Given the description of an element on the screen output the (x, y) to click on. 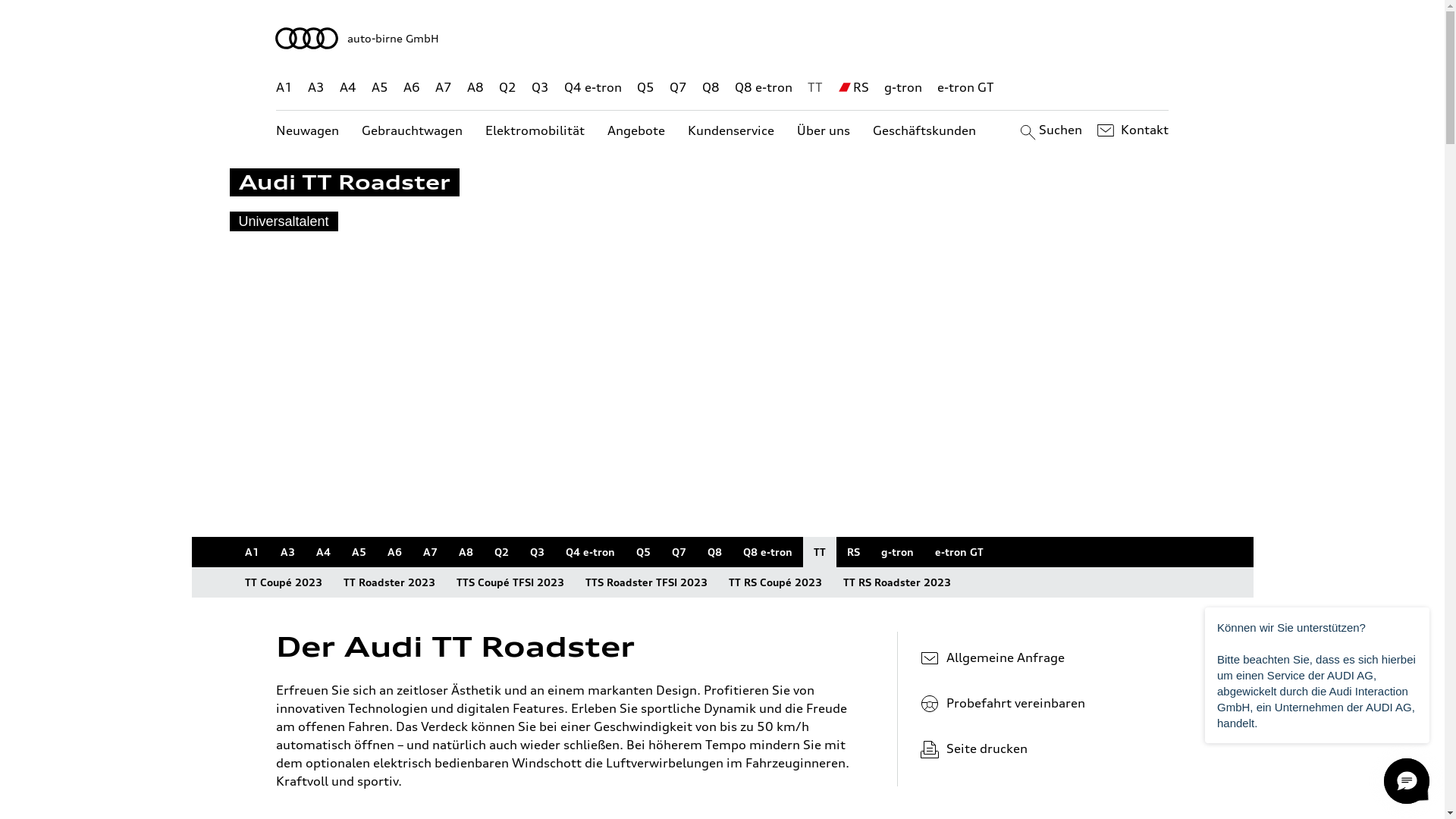
A1 Element type: text (284, 87)
A1 Element type: text (251, 551)
e-tron GT Element type: text (965, 87)
auto-birne GmbH Element type: text (722, 38)
A4 Element type: text (322, 551)
TT Element type: text (814, 87)
Kundenservice Element type: text (730, 130)
g-tron Element type: text (903, 87)
Q5 Element type: text (645, 87)
e-tron GT Element type: text (958, 551)
Gebrauchtwagen Element type: text (411, 130)
Q3 Element type: text (536, 551)
A5 Element type: text (379, 87)
Q2 Element type: text (507, 87)
Probefahrt vereinbaren Element type: text (1038, 702)
A7 Element type: text (430, 551)
A7 Element type: text (443, 87)
Q8 Element type: text (713, 551)
Q3 Element type: text (540, 87)
Q5 Element type: text (642, 551)
Neuwagen Element type: text (307, 130)
TT Roadster 2023 Element type: text (388, 582)
A3 Element type: text (315, 87)
Q7 Element type: text (678, 87)
RS Element type: text (852, 551)
Q7 Element type: text (678, 551)
Q8 e-tron Element type: text (763, 87)
Seite drucken Element type: text (1044, 748)
A4 Element type: text (347, 87)
Q4 e-tron Element type: text (592, 87)
Q8 e-tron Element type: text (767, 551)
TT Element type: text (818, 551)
A3 Element type: text (287, 551)
A8 Element type: text (475, 87)
Kontakt Element type: text (1130, 130)
A8 Element type: text (465, 551)
Q8 Element type: text (710, 87)
Angebote Element type: text (636, 130)
Q2 Element type: text (501, 551)
A6 Element type: text (411, 87)
Acquire Live Chat Element type: hover (1406, 780)
Q4 e-tron Element type: text (590, 551)
A6 Element type: text (393, 551)
TTS Roadster TFSI 2023 Element type: text (646, 582)
g-tron Element type: text (897, 551)
Suchen Element type: text (1049, 130)
A5 Element type: text (358, 551)
Allgemeine Anfrage Element type: text (1038, 657)
TT RS Roadster 2023 Element type: text (896, 582)
RS Element type: text (861, 87)
